Given the description of an element on the screen output the (x, y) to click on. 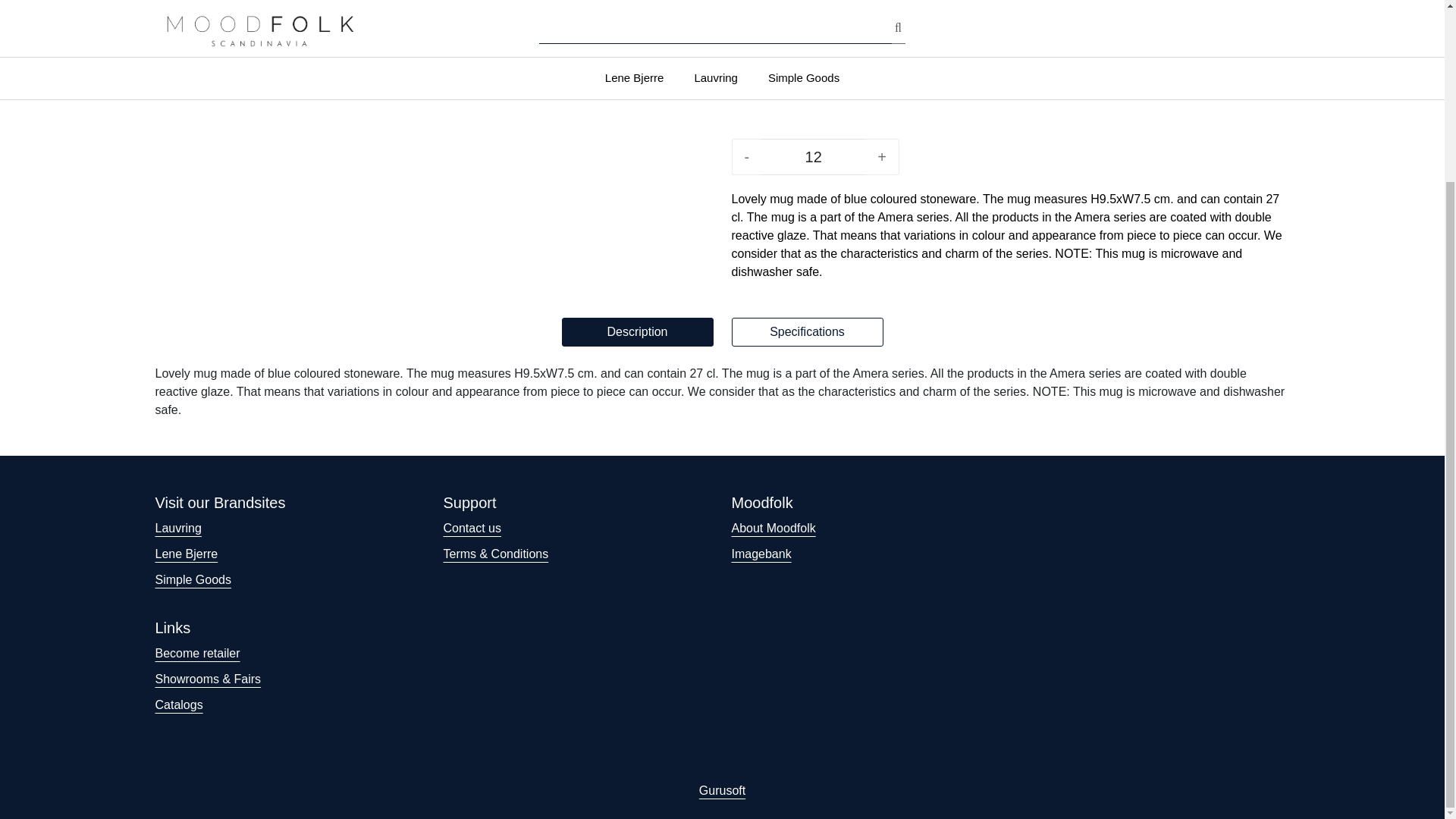
Catalogs (178, 704)
12 (813, 156)
Become retailer (197, 653)
Description (636, 331)
Specifications (806, 331)
About Moodfolk (772, 527)
Lene Bjerre (1250, 30)
Gurusoft (721, 789)
Imagebank (760, 553)
Become retailer (197, 653)
Catalogs (178, 704)
Lene Bjerre (185, 553)
Simple Goods (192, 579)
Contact us (471, 527)
Lauvring (177, 527)
